Given the description of an element on the screen output the (x, y) to click on. 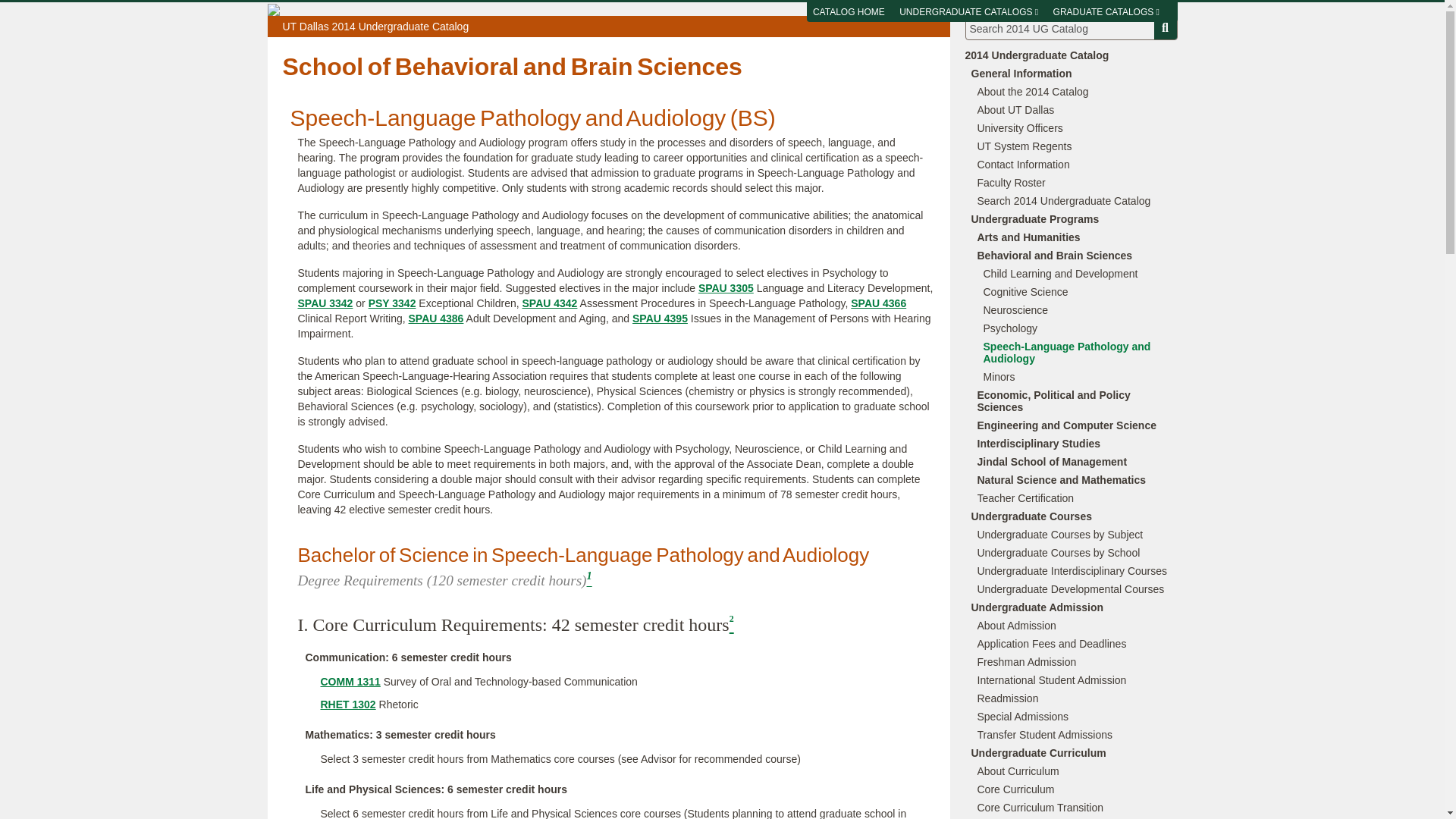
SPAU 4342 (550, 303)
SPAU 3342 (324, 303)
RHET 1302 (347, 704)
Search 2014 UG Catalog (1069, 27)
COMM 1311 (350, 681)
GRADUATE CATALOGS (1105, 12)
UNDERGRADUATE CATALOGS (968, 12)
SPAU 3305 (726, 287)
SPAU 4386 (436, 318)
SPAU 4366 (877, 303)
